Given the description of an element on the screen output the (x, y) to click on. 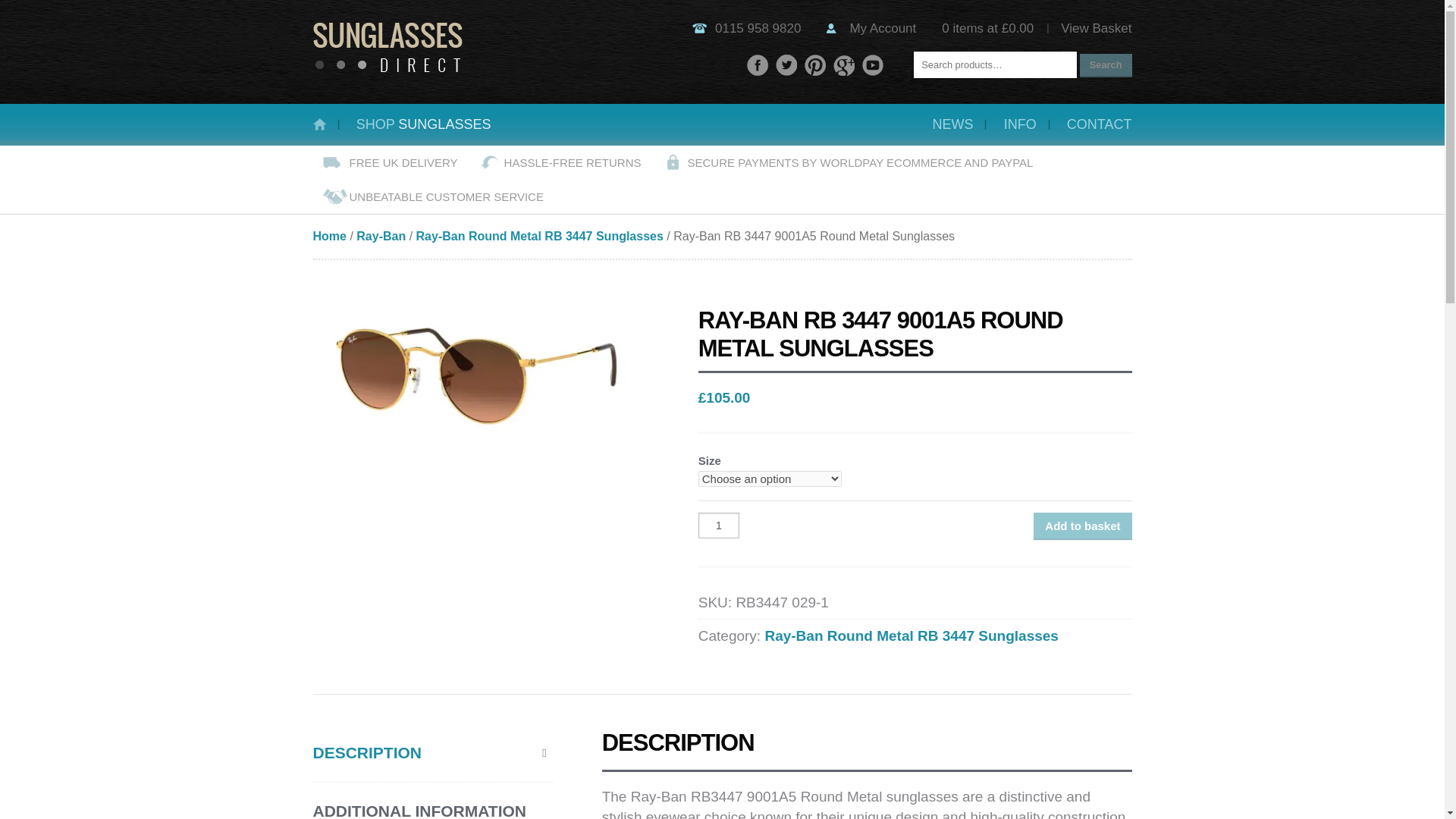
CONTACT (1092, 124)
Home (329, 236)
3447 9001A5 (481, 375)
View Basket (1096, 28)
Add to basket (1082, 525)
Ray-Ban Round Metal RB 3447 Sunglasses (539, 236)
My Account (881, 28)
0115 958 9820 (757, 28)
INFO (1019, 124)
Qty (718, 525)
DESCRIPTION (433, 752)
NEWS (952, 124)
SHOP SUNGLASSES (423, 124)
Ray-Ban Round Metal RB 3447 Sunglasses (911, 635)
